Given the description of an element on the screen output the (x, y) to click on. 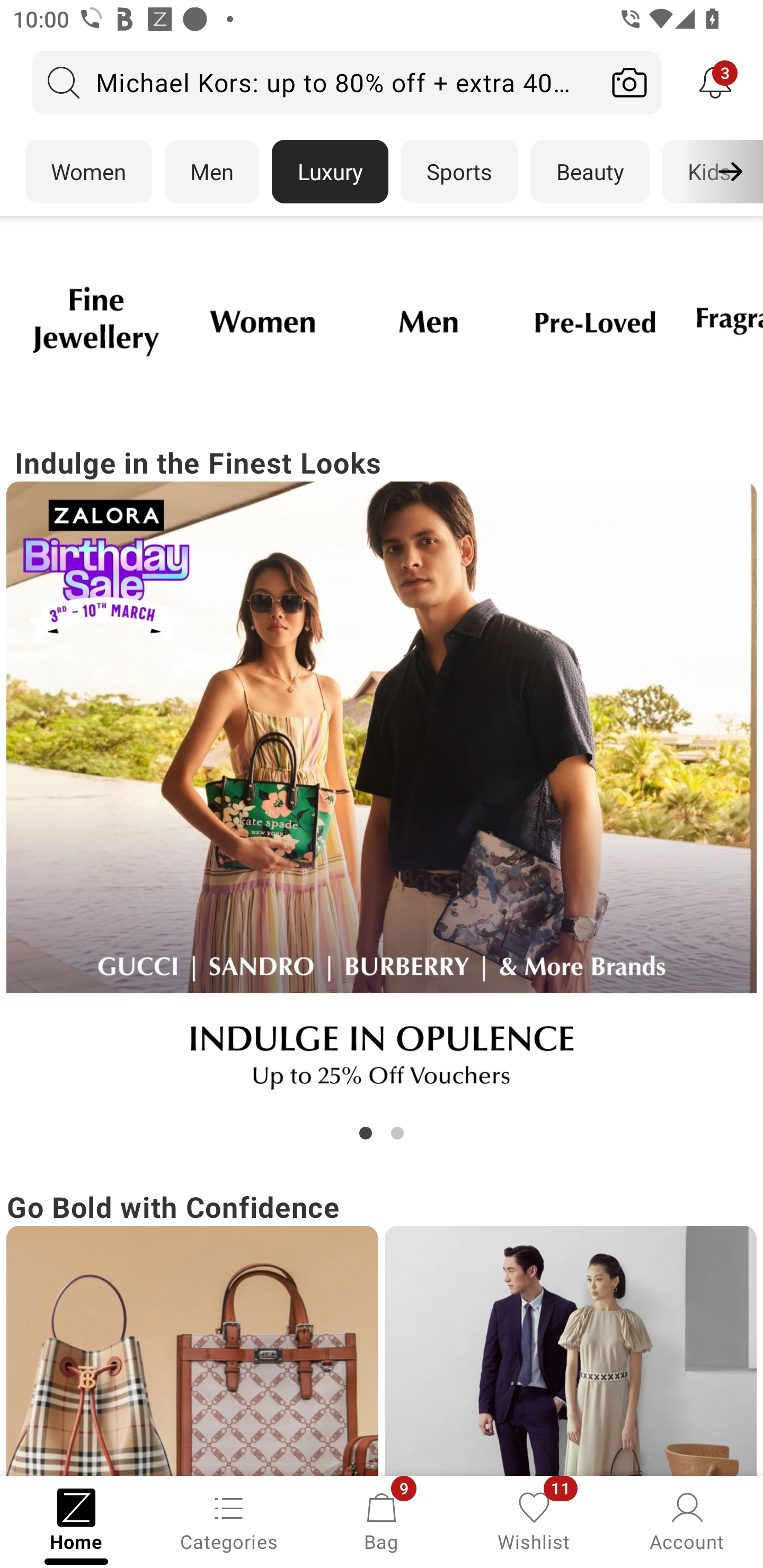
Michael Kors: up to 80% off + extra 40% off (314, 82)
Women (88, 171)
Men (211, 171)
Luxury (329, 171)
Sports (459, 171)
Beauty (590, 171)
Campaign banner (95, 321)
Campaign banner (261, 321)
Campaign banner (428, 321)
Campaign banner (594, 321)
 Indulge in the Finest Looks Campaign banner (381, 792)
Campaign banner (381, 797)
Campaign banner (192, 1350)
Campaign banner (570, 1350)
Categories (228, 1519)
Bag, 9 new notifications Bag (381, 1519)
Wishlist, 11 new notifications Wishlist (533, 1519)
Account (686, 1519)
